Given the description of an element on the screen output the (x, y) to click on. 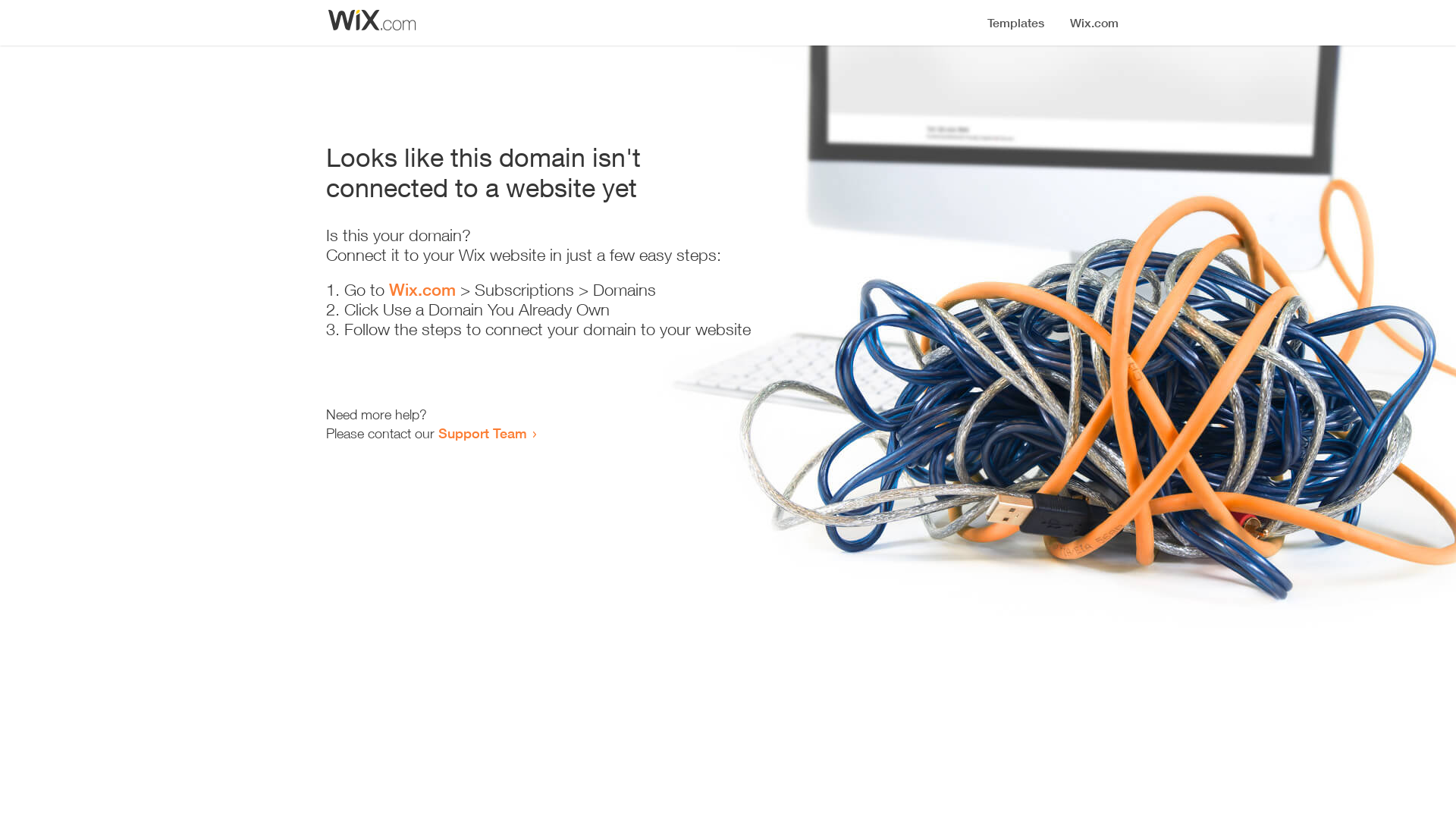
Wix.com Element type: text (422, 289)
Support Team Element type: text (482, 432)
